Given the description of an element on the screen output the (x, y) to click on. 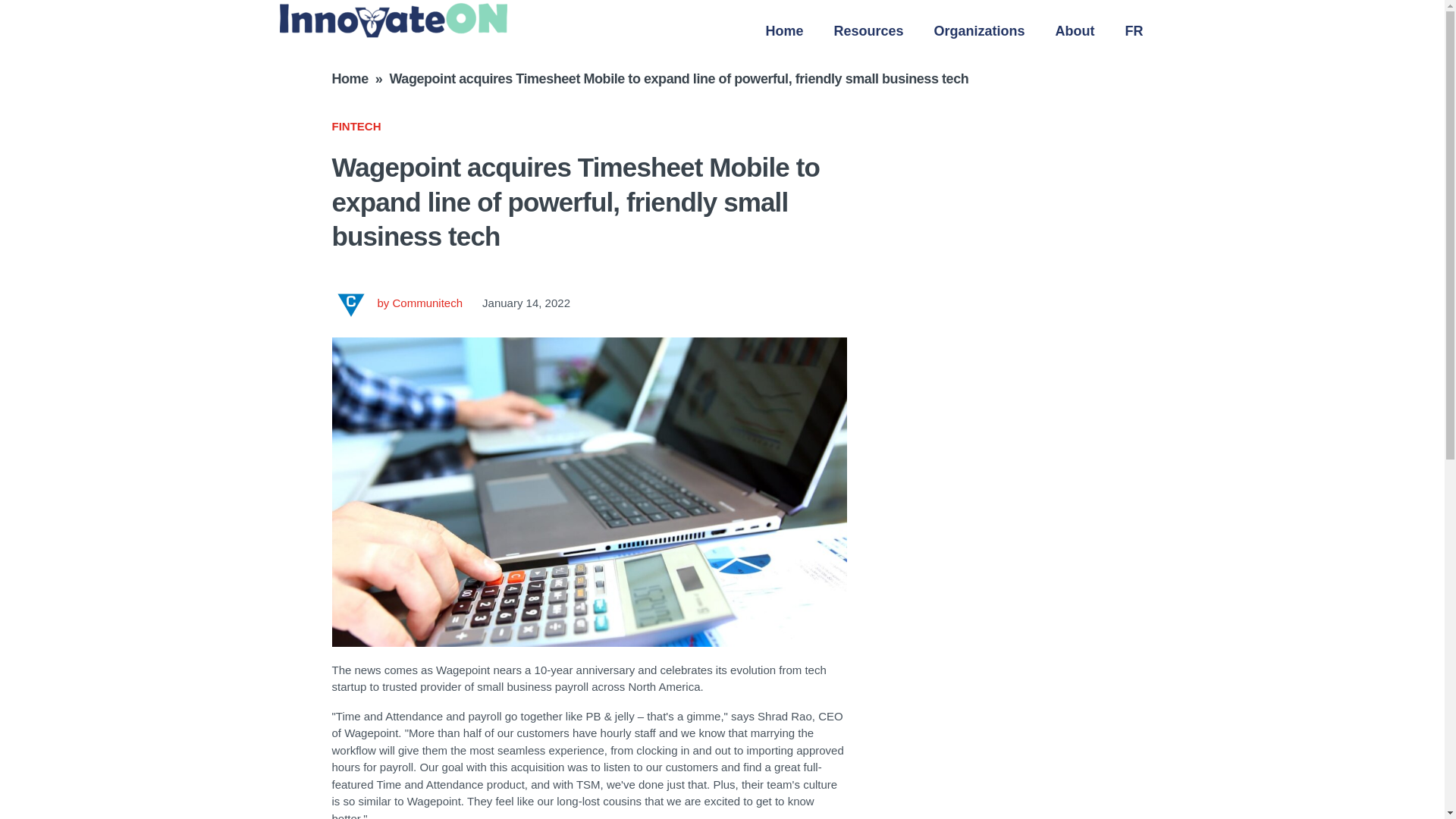
by Communitech (397, 303)
About (1075, 30)
Home (783, 30)
FR (1133, 30)
FINTECH (356, 125)
Resources (868, 30)
Home (349, 78)
Organizations (979, 30)
